Given the description of an element on the screen output the (x, y) to click on. 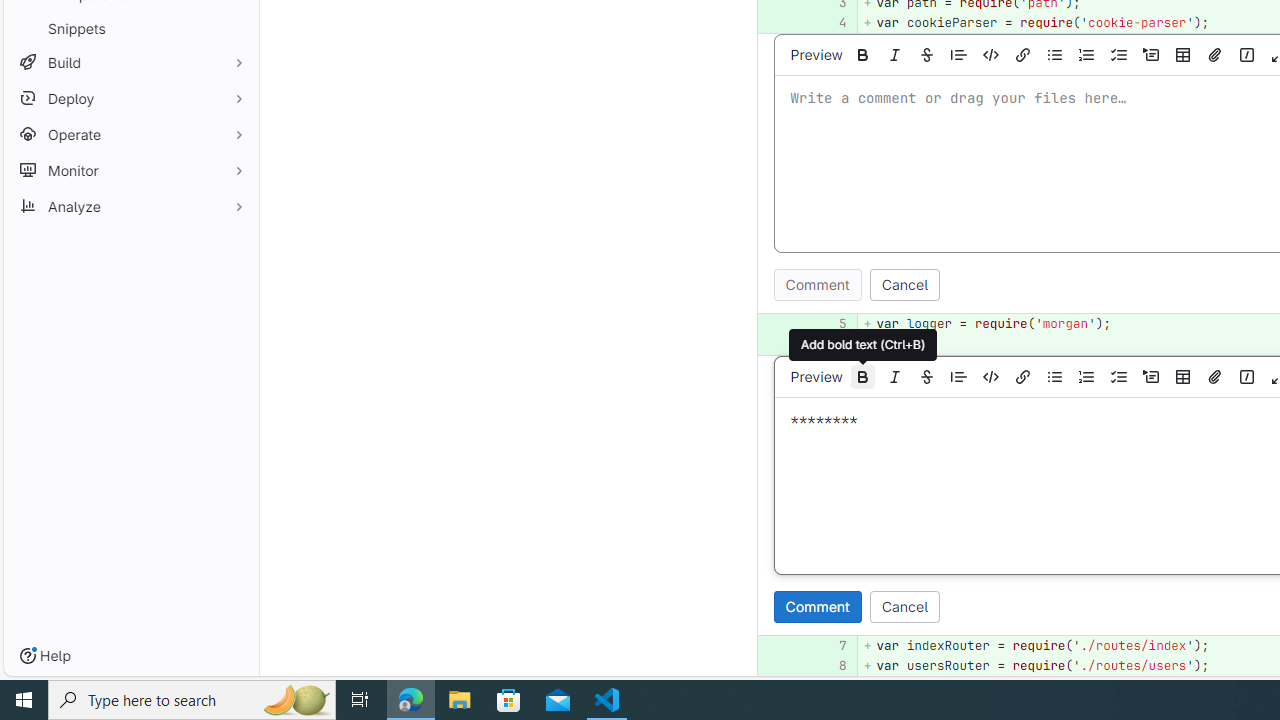
Operate (130, 134)
Add bold text (Ctrl+B) (863, 344)
Class: s12 (757, 664)
Insert a quote (959, 376)
8 (831, 665)
Pin Snippets (234, 28)
Comment (817, 605)
Add italic text (Ctrl+I) (895, 376)
Add a quick action (1247, 376)
4 (829, 22)
4 (831, 22)
Operate (130, 134)
Monitor (130, 170)
Insert code (991, 376)
Deploy (130, 98)
